Given the description of an element on the screen output the (x, y) to click on. 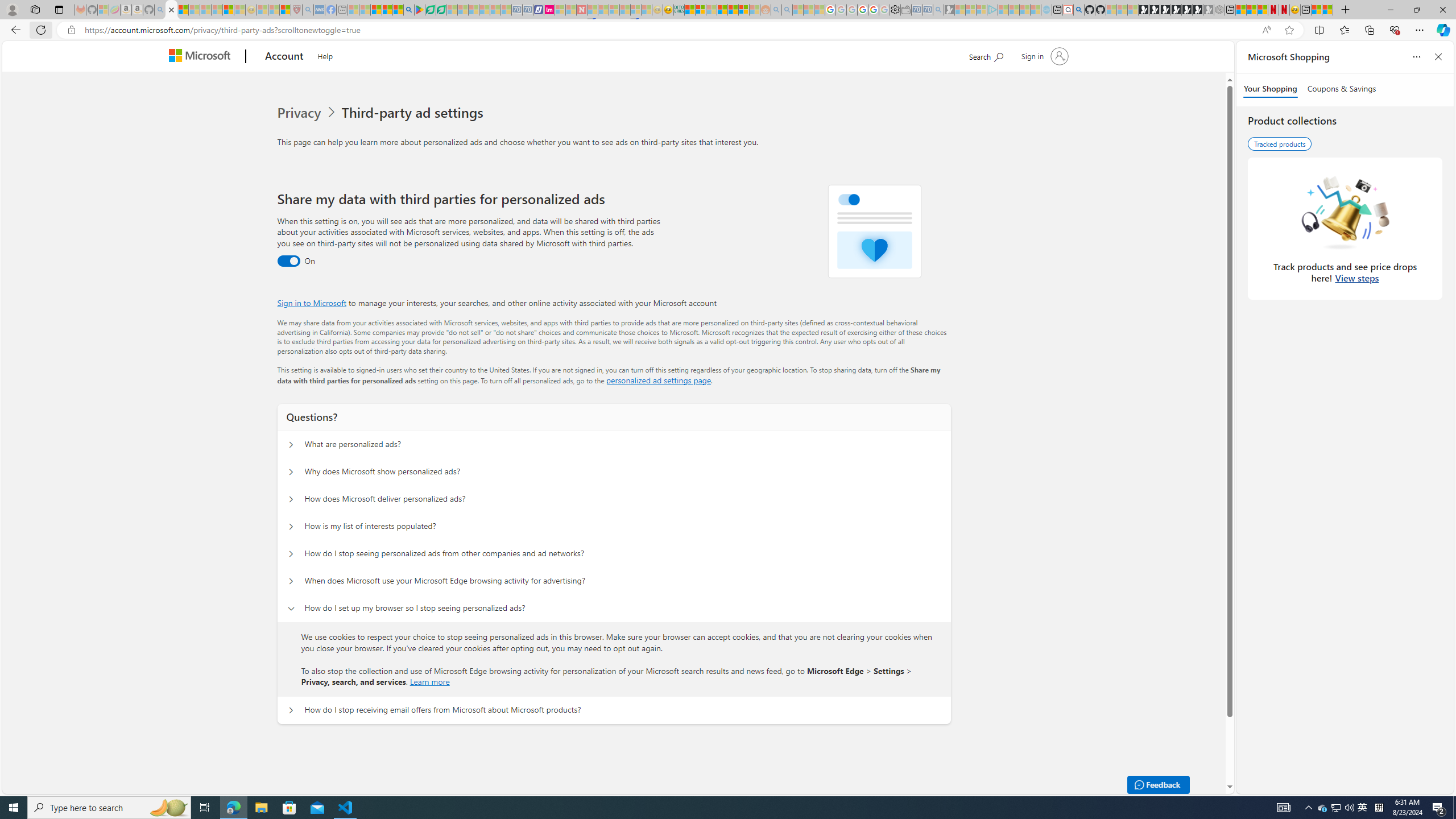
Terms of Use Agreement (430, 9)
Sign in to Microsoft (311, 302)
Questions? What are personalized ads? (290, 444)
